Given the description of an element on the screen output the (x, y) to click on. 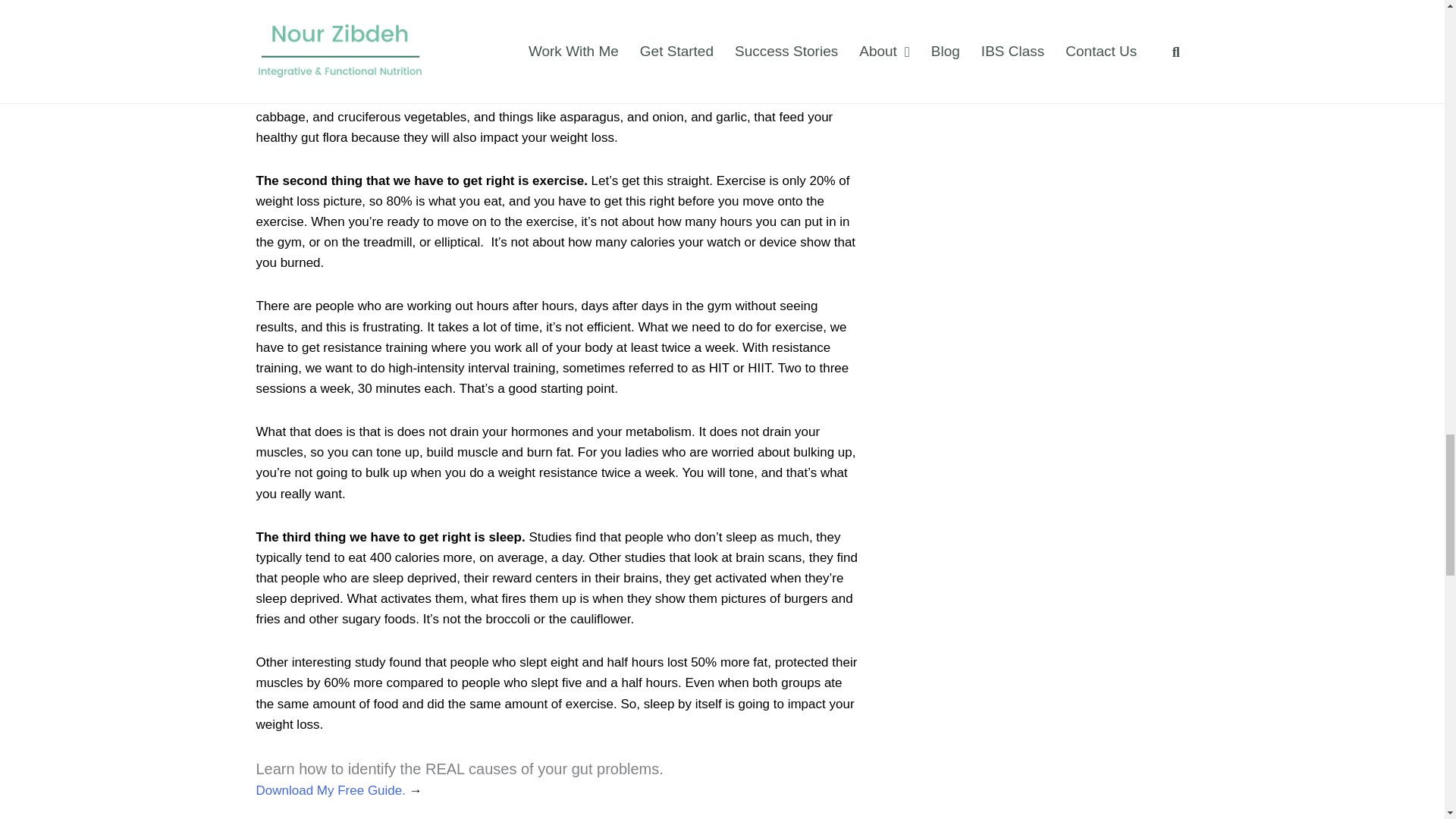
Download My Free Guide. (332, 789)
